Given the description of an element on the screen output the (x, y) to click on. 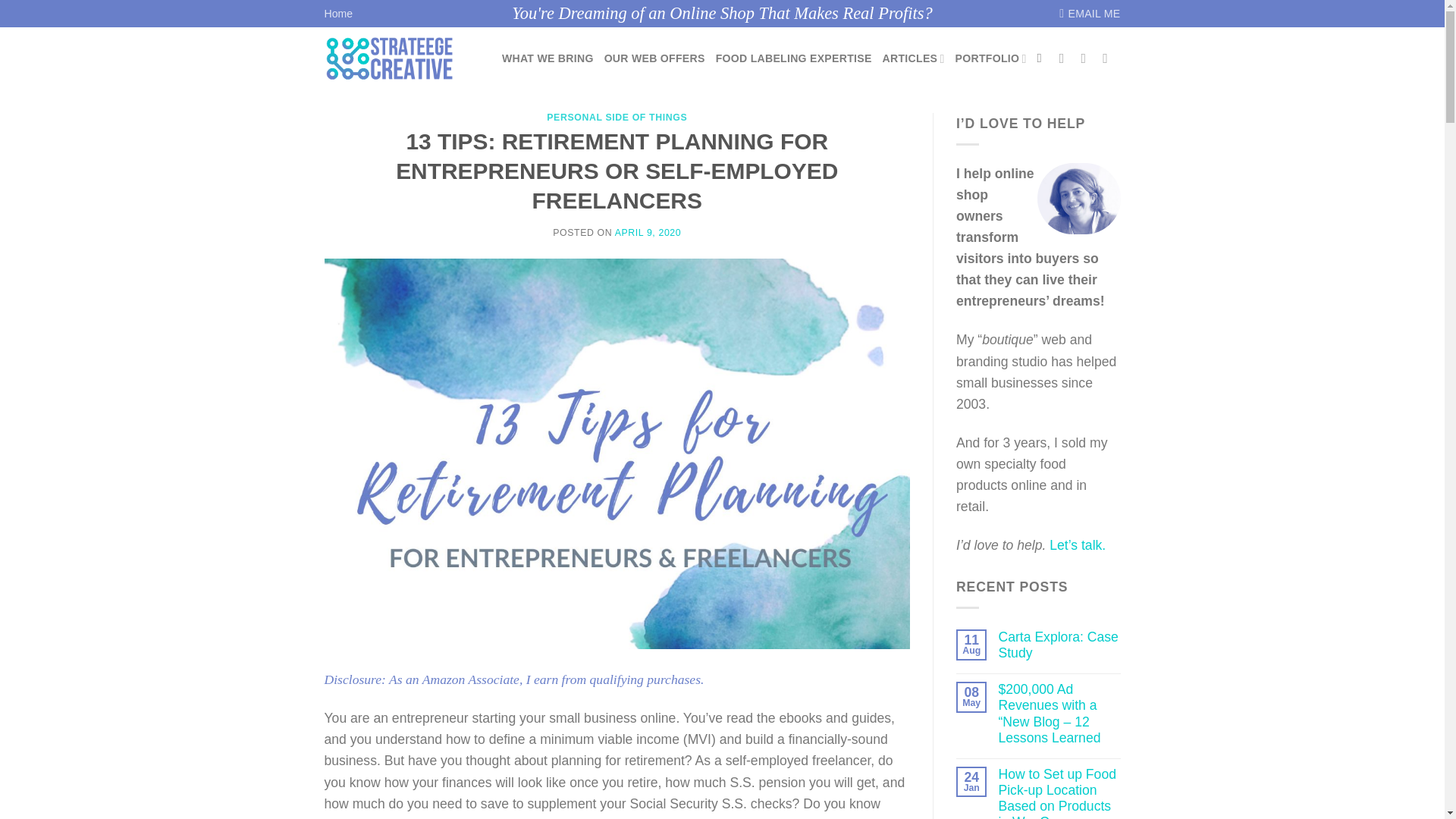
Follow on Facebook (1066, 58)
Follow on Pinterest (1087, 58)
ARTICLES (913, 58)
EMAIL ME (1089, 13)
Home (338, 13)
Carta Explora: Case Study (1058, 644)
WHAT WE BRING (548, 58)
OUR WEB OFFERS (654, 58)
FOOD LABELING EXPERTISE (794, 58)
PERSONAL SIDE OF THINGS (617, 117)
PORTFOLIO (990, 58)
APRIL 9, 2020 (647, 232)
Follow on LinkedIn (1109, 58)
